Given the description of an element on the screen output the (x, y) to click on. 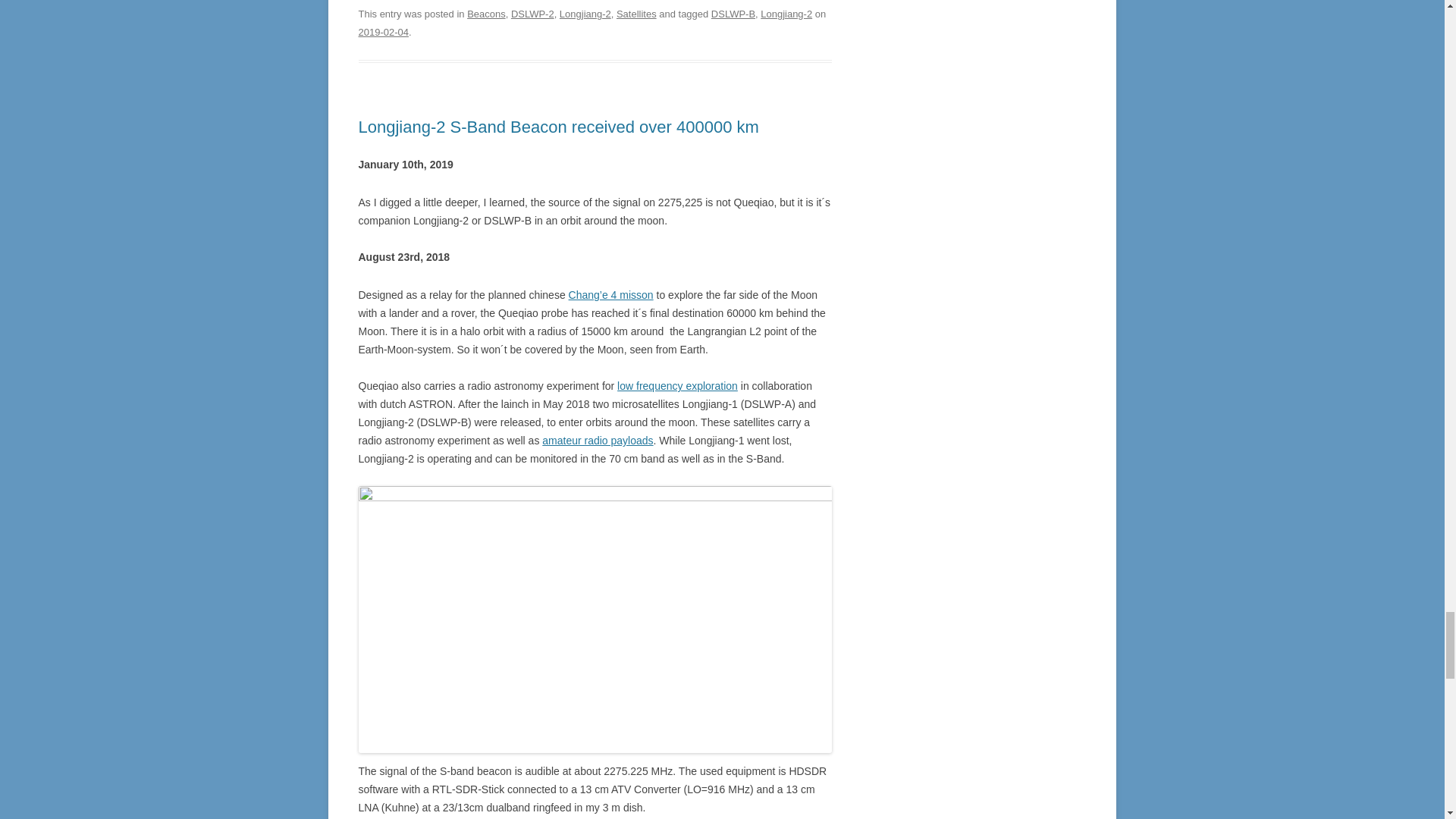
20:24 (382, 31)
